Given the description of an element on the screen output the (x, y) to click on. 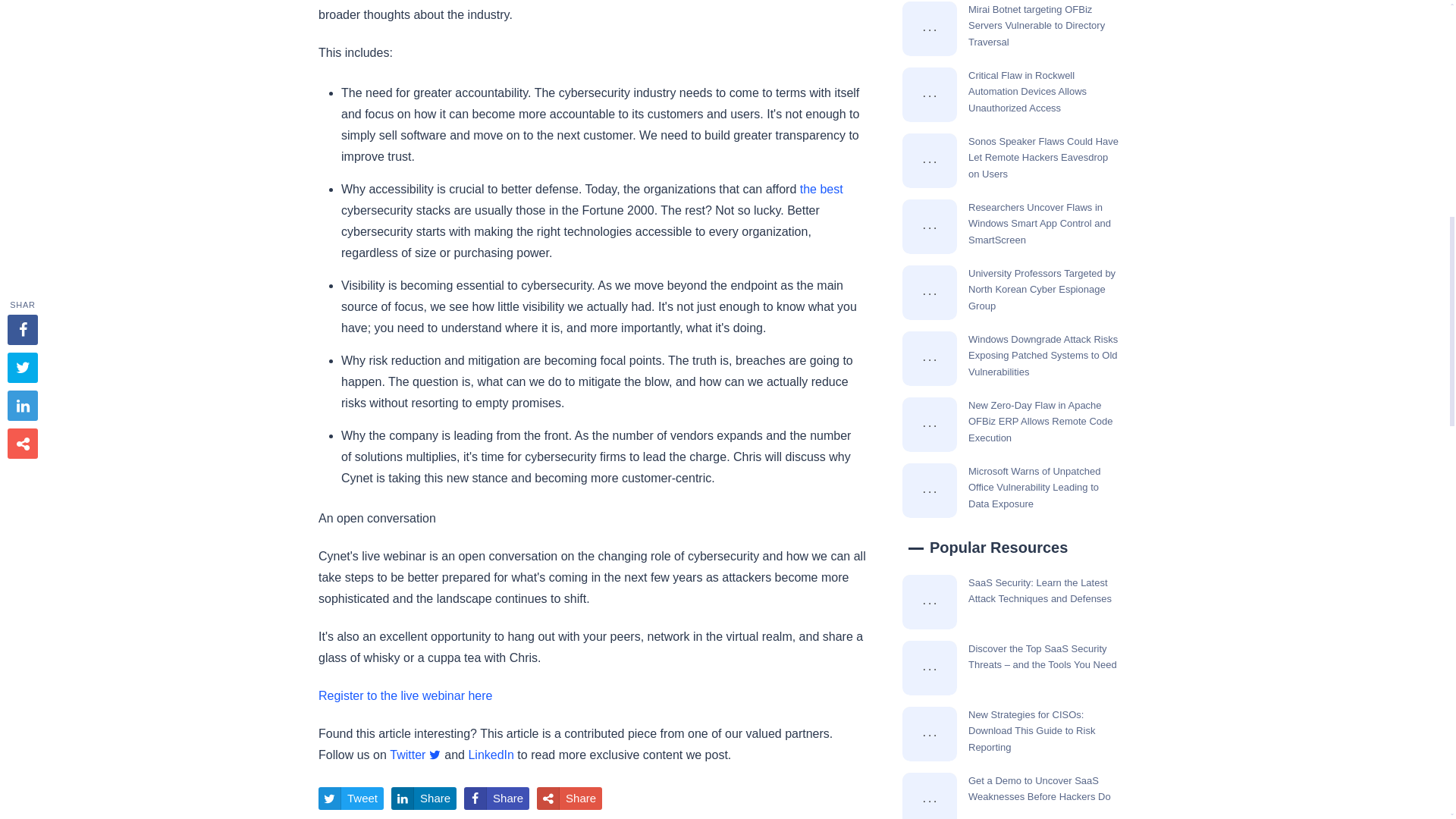
the best (821, 188)
Register to the live webinar here (405, 695)
